Given the description of an element on the screen output the (x, y) to click on. 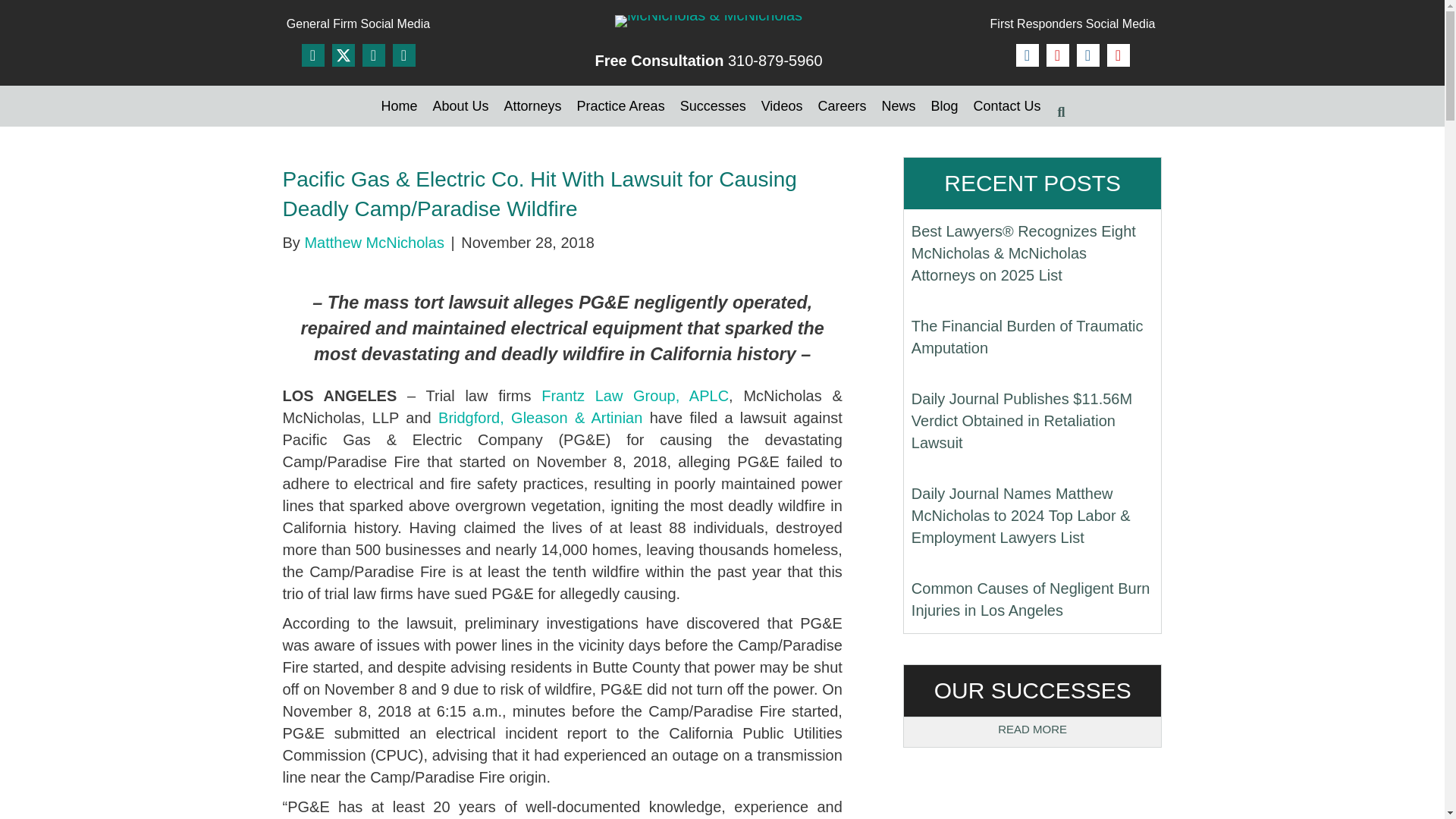
LinkedIn (373, 55)
About Us (460, 105)
Facebook (1027, 55)
Facebook (312, 55)
TikTok (1088, 55)
310-879-5960 (775, 60)
Instagram (403, 55)
Home (398, 105)
Attorneys (532, 105)
YouTube (1117, 55)
